Given the description of an element on the screen output the (x, y) to click on. 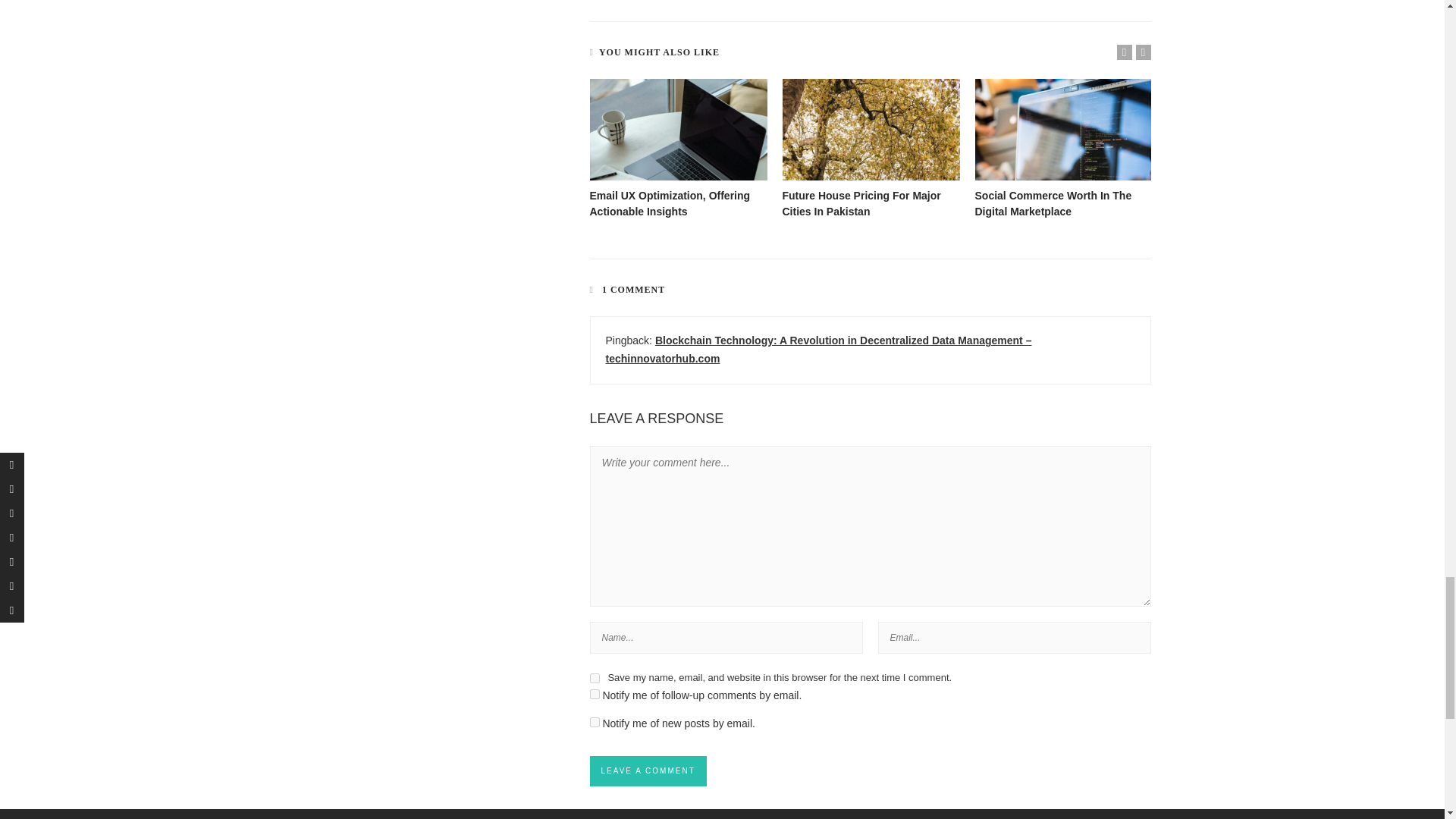
Leave a comment (647, 770)
subscribe (594, 694)
yes (594, 678)
subscribe (594, 722)
